Given the description of an element on the screen output the (x, y) to click on. 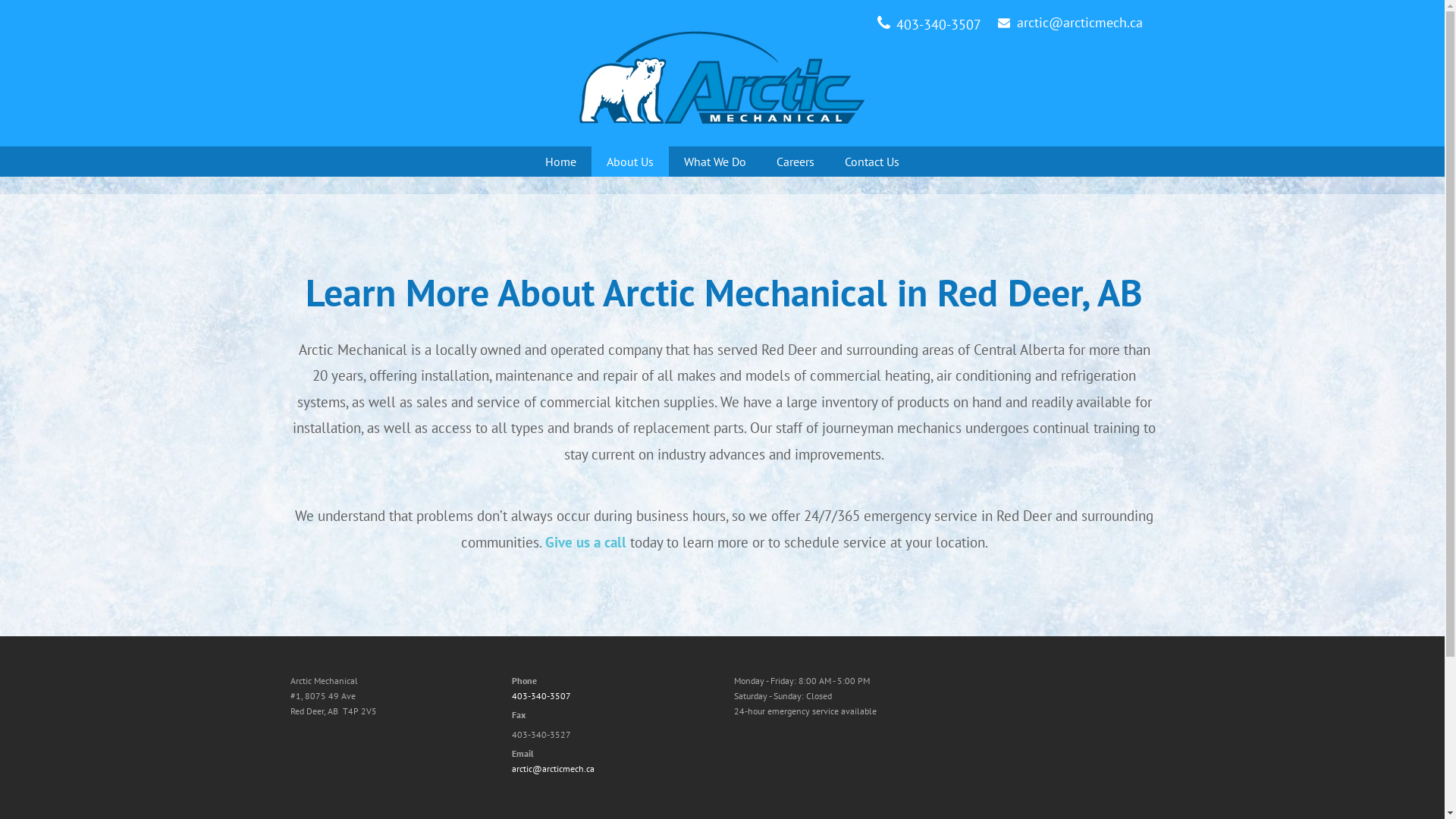
Embedded Content Element type: hover (1047, 689)
Careers Element type: text (795, 161)
Embedded Content Element type: hover (1004, 717)
What We Do Element type: text (714, 161)
403-340-3507 Element type: text (938, 26)
Contact Us Element type: text (871, 161)
arctic@arcticmech.ca Element type: text (552, 768)
About Us Element type: text (629, 161)
403-340-3507 Element type: text (540, 695)
Home Element type: text (559, 161)
arctic@arcticmech.ca Element type: text (1079, 23)
Give us a call Element type: text (586, 542)
